Given the description of an element on the screen output the (x, y) to click on. 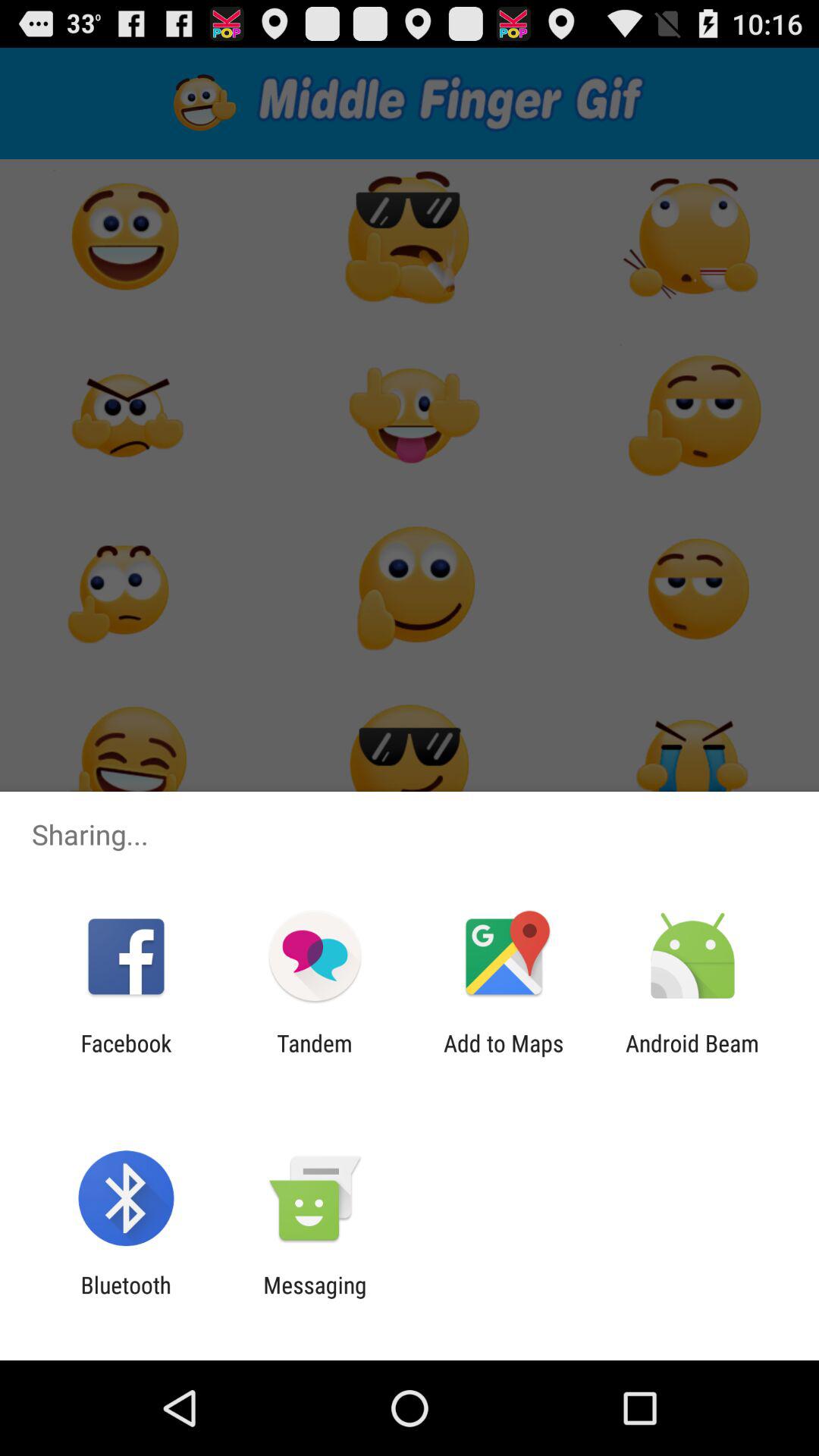
swipe to the facebook icon (125, 1056)
